Given the description of an element on the screen output the (x, y) to click on. 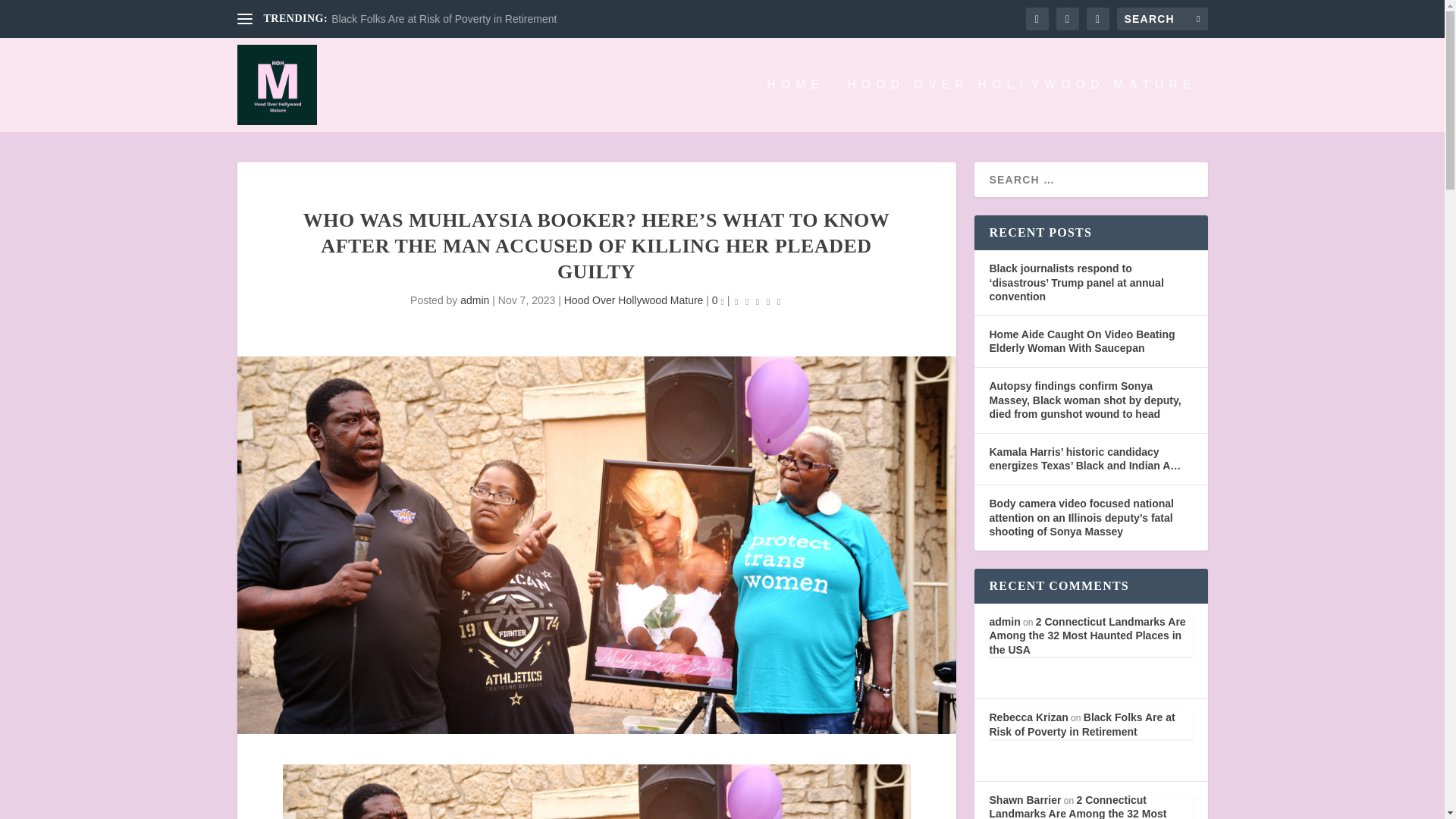
Posts by admin (474, 300)
admin (474, 300)
0 (717, 300)
HOOD OVER HOLLYWOOD MATURE (1021, 104)
HOME (795, 104)
Hood Over Hollywood Mature (633, 300)
Rating: 0.00 (757, 301)
Search for: (1161, 18)
Black Folks Are at Risk of Poverty in Retirement (443, 19)
